Given the description of an element on the screen output the (x, y) to click on. 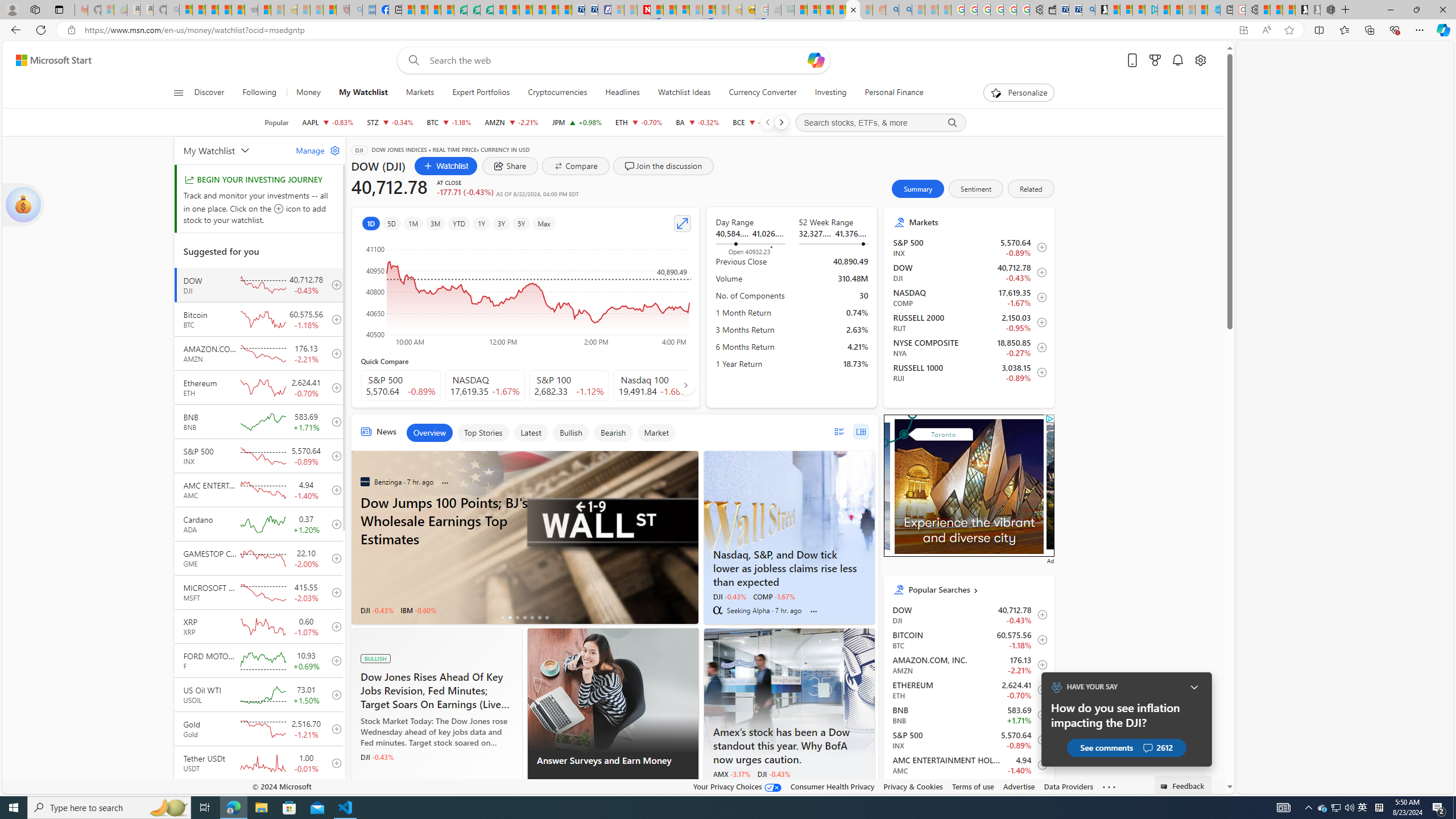
show card (22, 204)
Watchlist (445, 166)
Investing (830, 92)
INX S&P 500 decrease 5,570.64 -50.21 -0.89% itemundefined (968, 739)
AutomationID: vapourBg (966, 485)
Max (544, 223)
Markets (420, 92)
1D (370, 223)
Benzinga (364, 481)
